Given the description of an element on the screen output the (x, y) to click on. 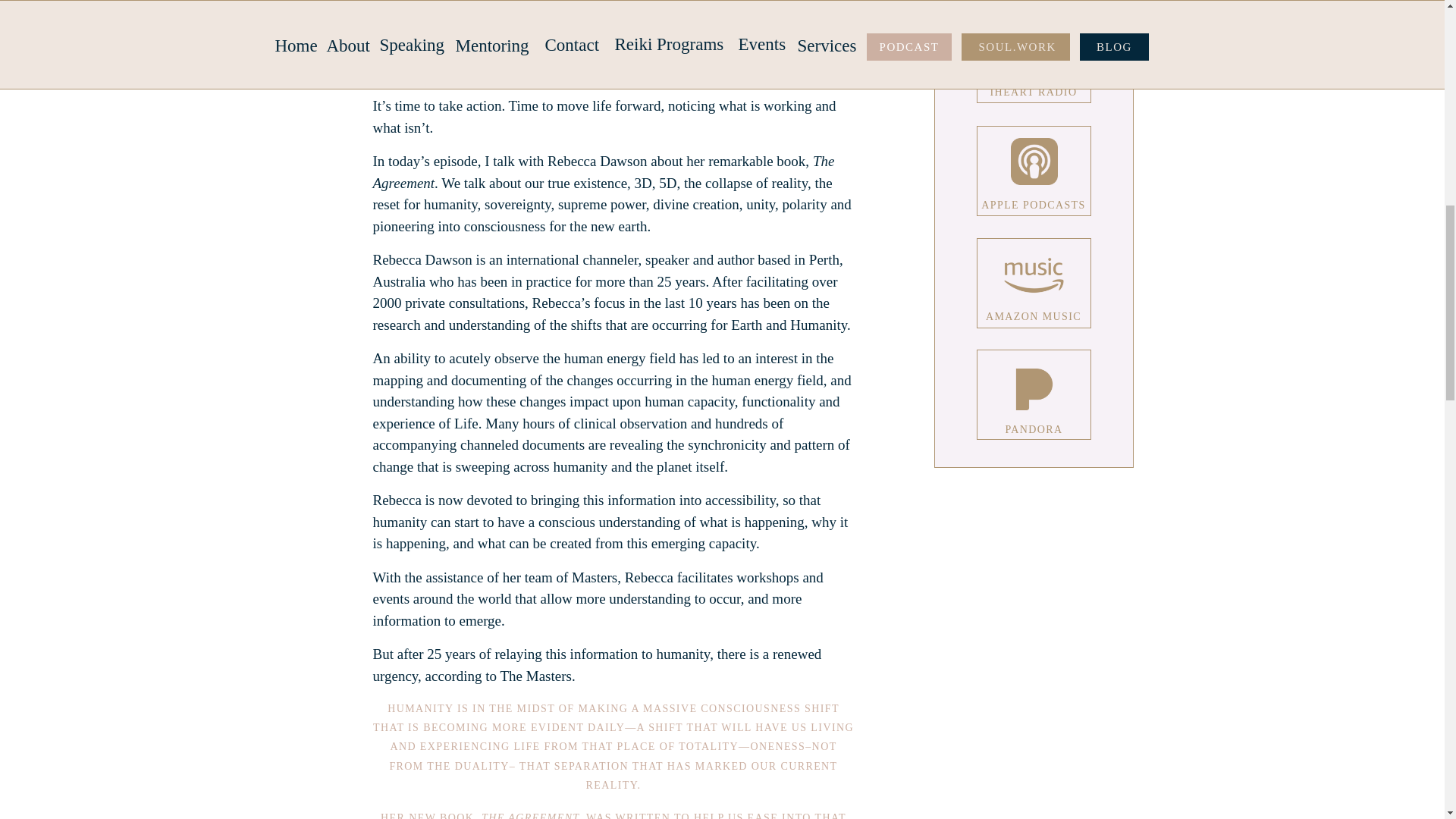
APPLE PODCASTS (1033, 201)
AMAZON MUSIC (1033, 314)
IHEART RADIO (1033, 88)
PANDORA (1033, 426)
